Given the description of an element on the screen output the (x, y) to click on. 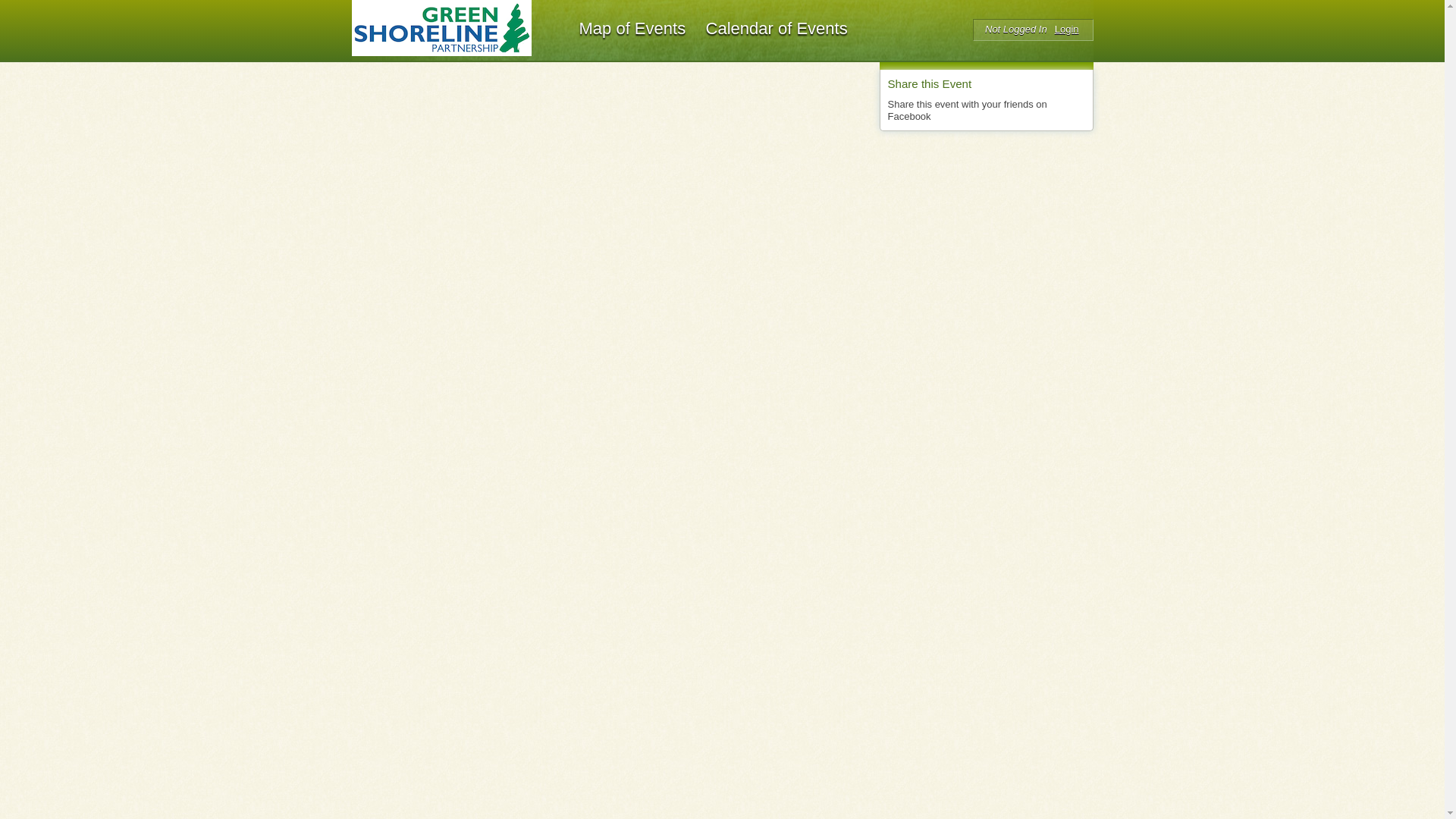
Map of Events (632, 28)
Login (1066, 29)
Calendar of Events (776, 28)
